Given the description of an element on the screen output the (x, y) to click on. 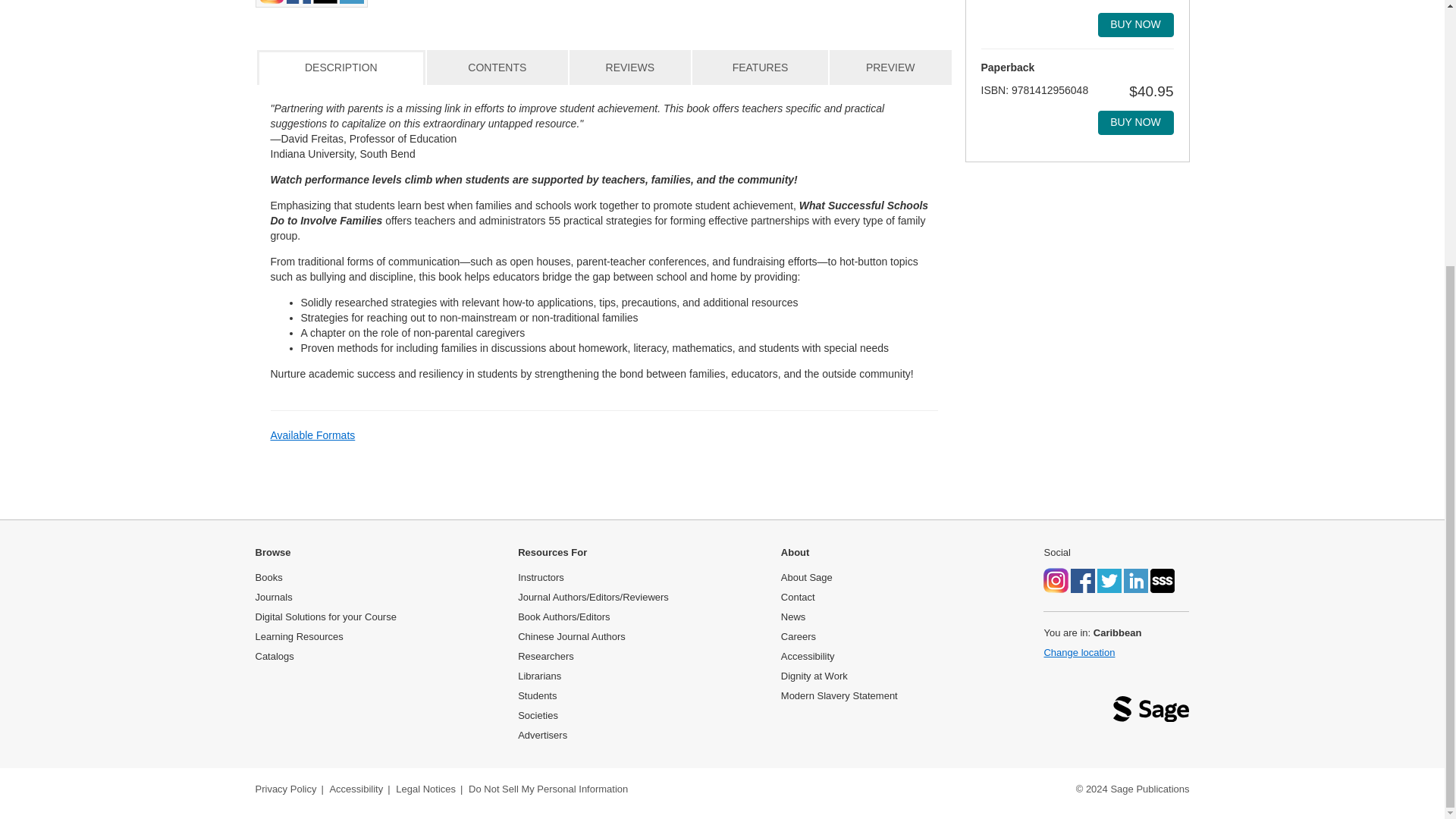
Buy now (1135, 122)
Buy now (1135, 24)
